Given the description of an element on the screen output the (x, y) to click on. 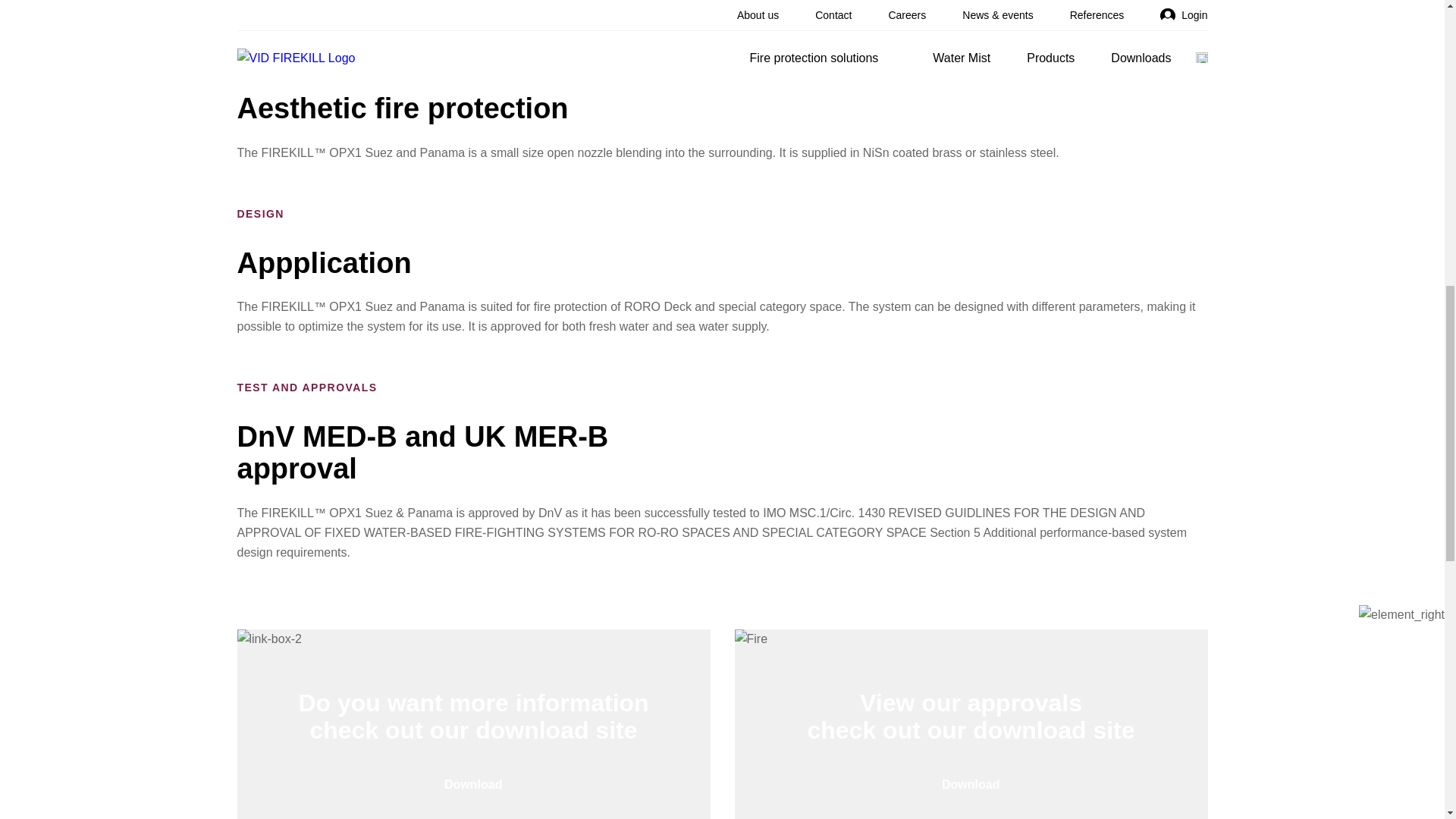
Download (970, 782)
Download (473, 782)
